Given the description of an element on the screen output the (x, y) to click on. 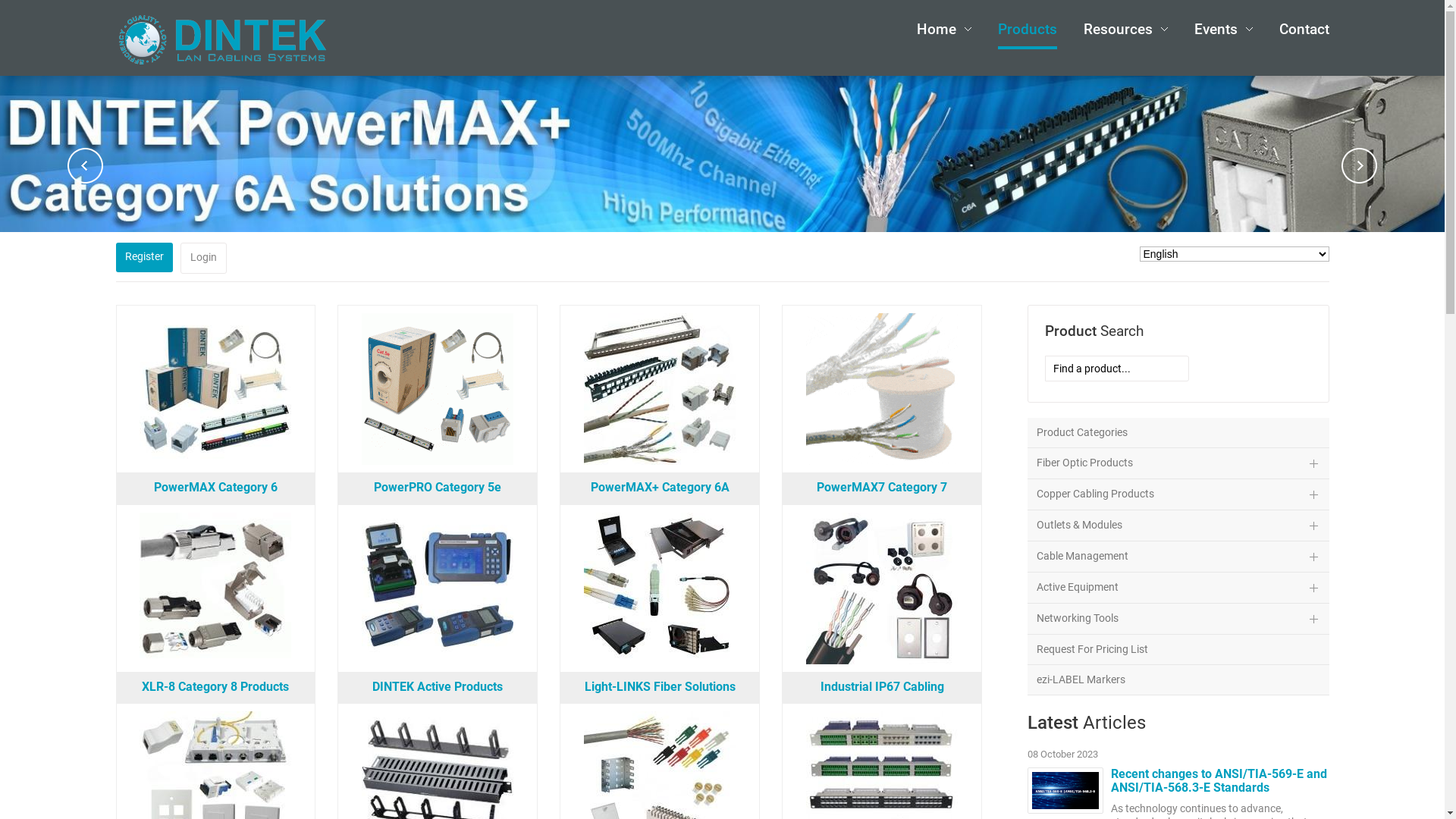
Cable Management - Wide Range of Organize Solutions Element type: hover (437, 720)
XLR-8 Category 8 Products Element type: text (214, 686)
Light-LINKS Fiber Solutions Element type: text (659, 686)
Cable Management Element type: text (1178, 556)
PowerMAX7 Category 7 Element type: text (881, 487)
Home Element type: text (935, 28)
PowerMAX Category 6 Element type: text (215, 487)
Fiber Optic Products Element type: text (1178, 463)
Industrial IP67 Cabling Element type: text (882, 686)
Home Element type: text (943, 29)
Request For Pricing List Element type: text (1178, 649)
Resources Element type: text (1124, 29)
Active Equipment Element type: text (1178, 587)
Outlets - Cable Installation Guides & Maintenance Element type: hover (215, 720)
DINTEK Active Products Element type: hover (437, 521)
DINTEK Active Products Element type: text (437, 686)
Outlets & Modules Element type: text (1178, 525)
PowerMAX+ Category 6A Element type: text (659, 487)
Category 6A Element type: hover (659, 322)
Category 5e Element type: hover (437, 322)
Category  6 Element type: hover (215, 322)
Products Element type: text (1027, 28)
ezi-LABEL Markers Element type: text (1178, 680)
Category 7 Element type: hover (881, 322)
Networking Tools Element type: text (1178, 618)
Contact Element type: text (1303, 29)
Contact Element type: text (1303, 28)
Products Element type: text (1027, 29)
Events Element type: text (1214, 28)
Resources Element type: text (1116, 28)
PowerPRO Category 5e Element type: text (437, 487)
ezi-PANEL Cassette - Conveniently Integrate Equipment Element type: hover (881, 720)
Events Element type: text (1222, 29)
Fiber Optic Connectors - Single or Multimode Patch Cables Element type: hover (659, 521)
Category 8 Element type: hover (215, 521)
Telecom & Voice Element type: hover (659, 720)
Product Categories Element type: text (1178, 432)
Copper Cabling Products Element type: text (1178, 494)
